Given the description of an element on the screen output the (x, y) to click on. 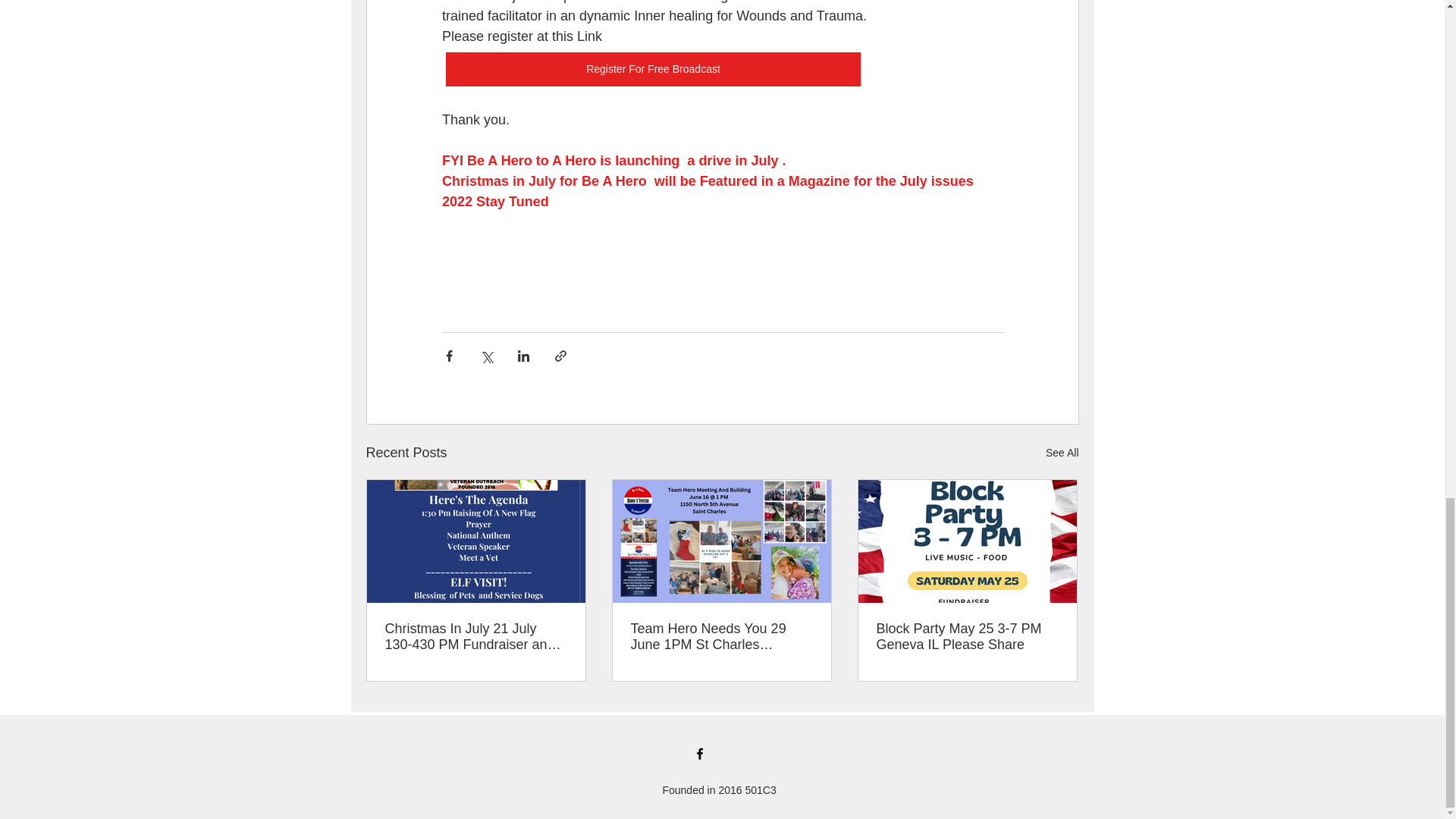
Block Party May 25 3-7 PM Geneva IL Please Share (967, 636)
See All (1061, 453)
Register For Free Broadcast (652, 69)
